Given the description of an element on the screen output the (x, y) to click on. 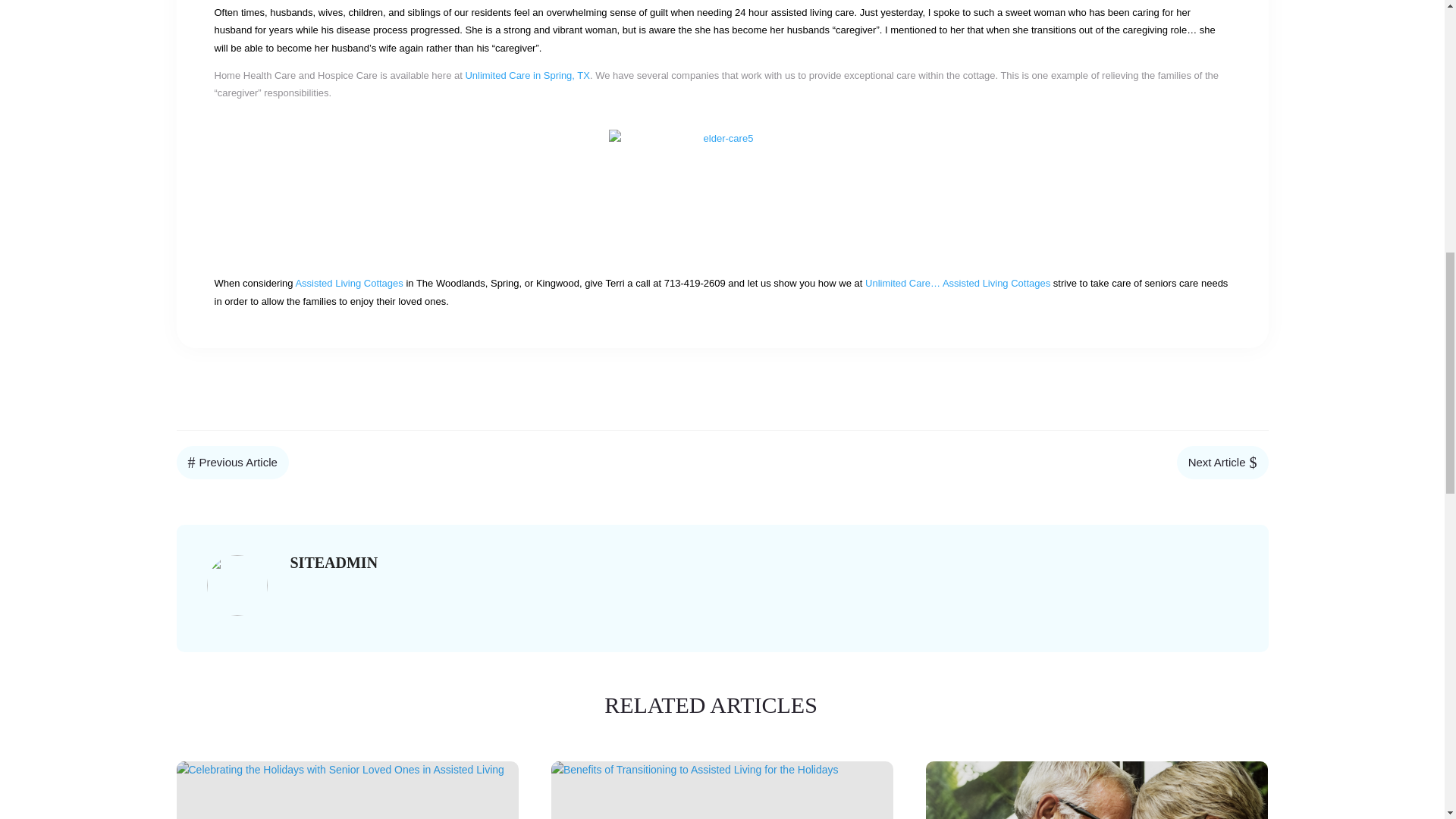
UCC (956, 283)
UCC (349, 283)
Assisted Living for Couples (1097, 790)
UCC (526, 75)
